Given the description of an element on the screen output the (x, y) to click on. 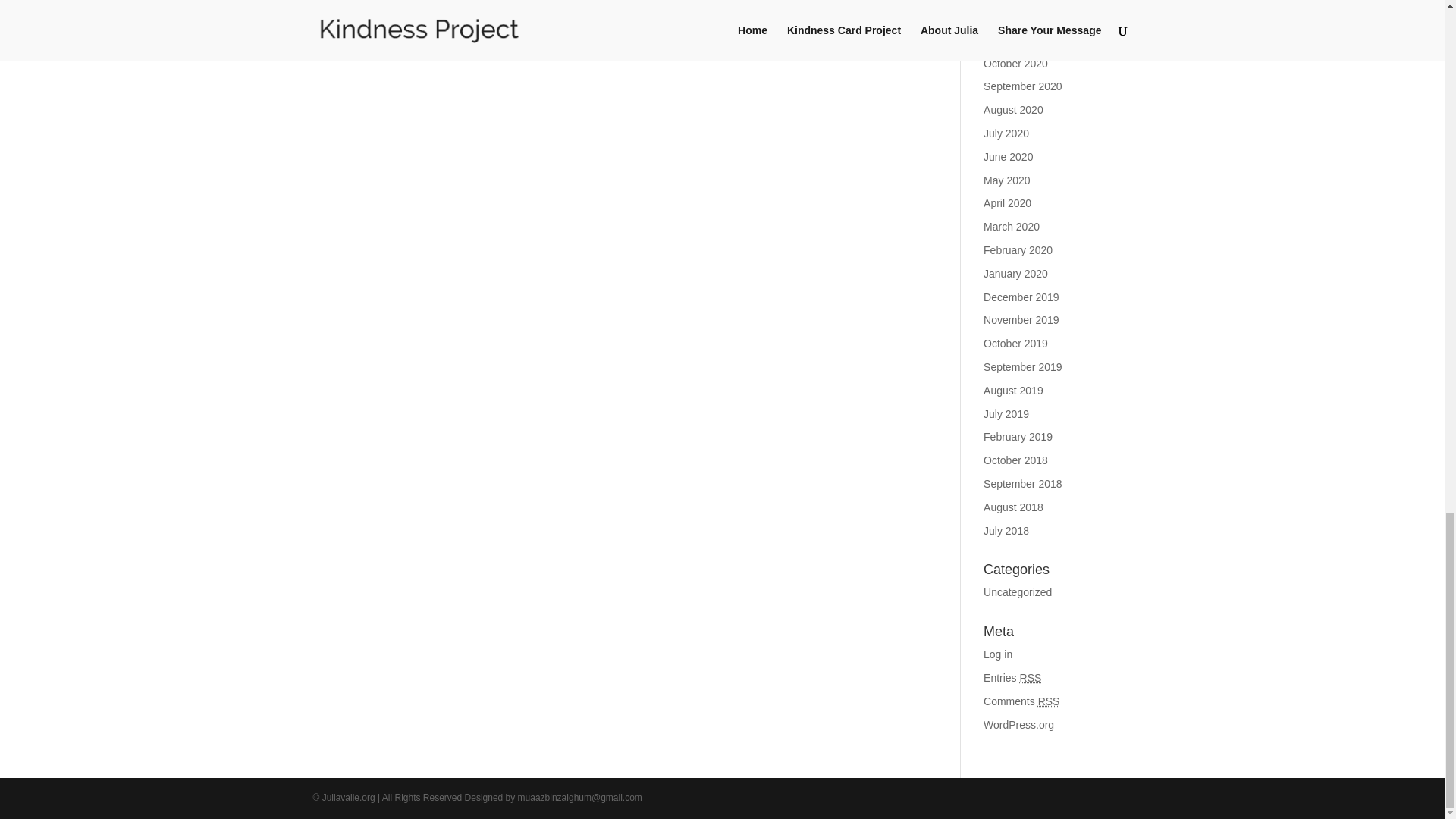
Really Simple Syndication (1031, 677)
Really Simple Syndication (1048, 701)
